Given the description of an element on the screen output the (x, y) to click on. 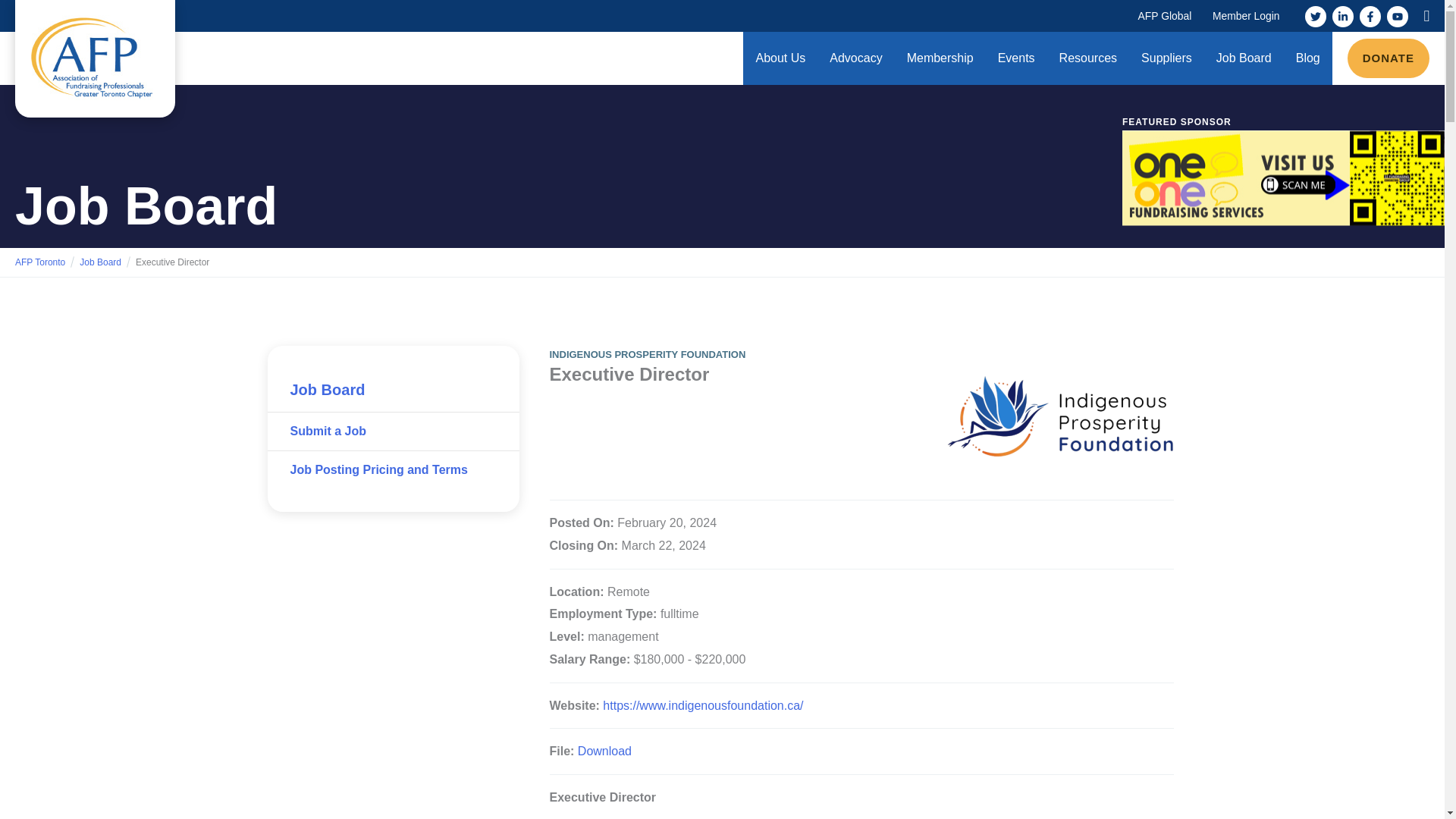
Go to AFP Toronto. (39, 262)
Go to Job Board. (100, 262)
Member Login (1246, 15)
Suppliers (1166, 58)
AFP Global (1164, 15)
About Us (779, 58)
Resources (1087, 58)
Advocacy (854, 58)
Events (1015, 58)
Job Board (1244, 58)
Membership (940, 58)
